Given the description of an element on the screen output the (x, y) to click on. 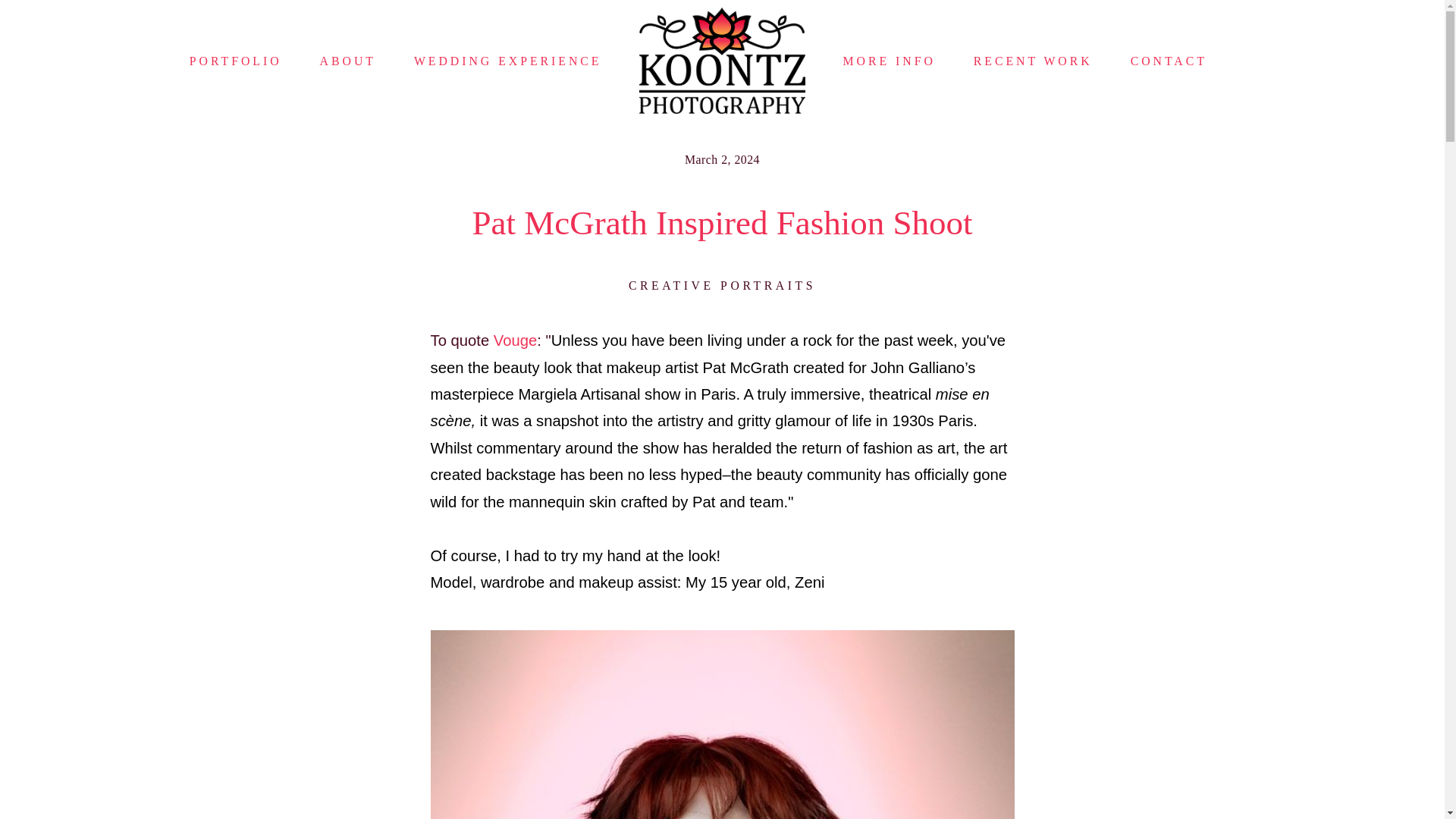
PORTFOLIO (235, 61)
MORE INFO (889, 61)
RECENT WORK (1033, 61)
ABOUT (347, 61)
CONTACT (1168, 61)
WEDDING EXPERIENCE (507, 61)
